Given the description of an element on the screen output the (x, y) to click on. 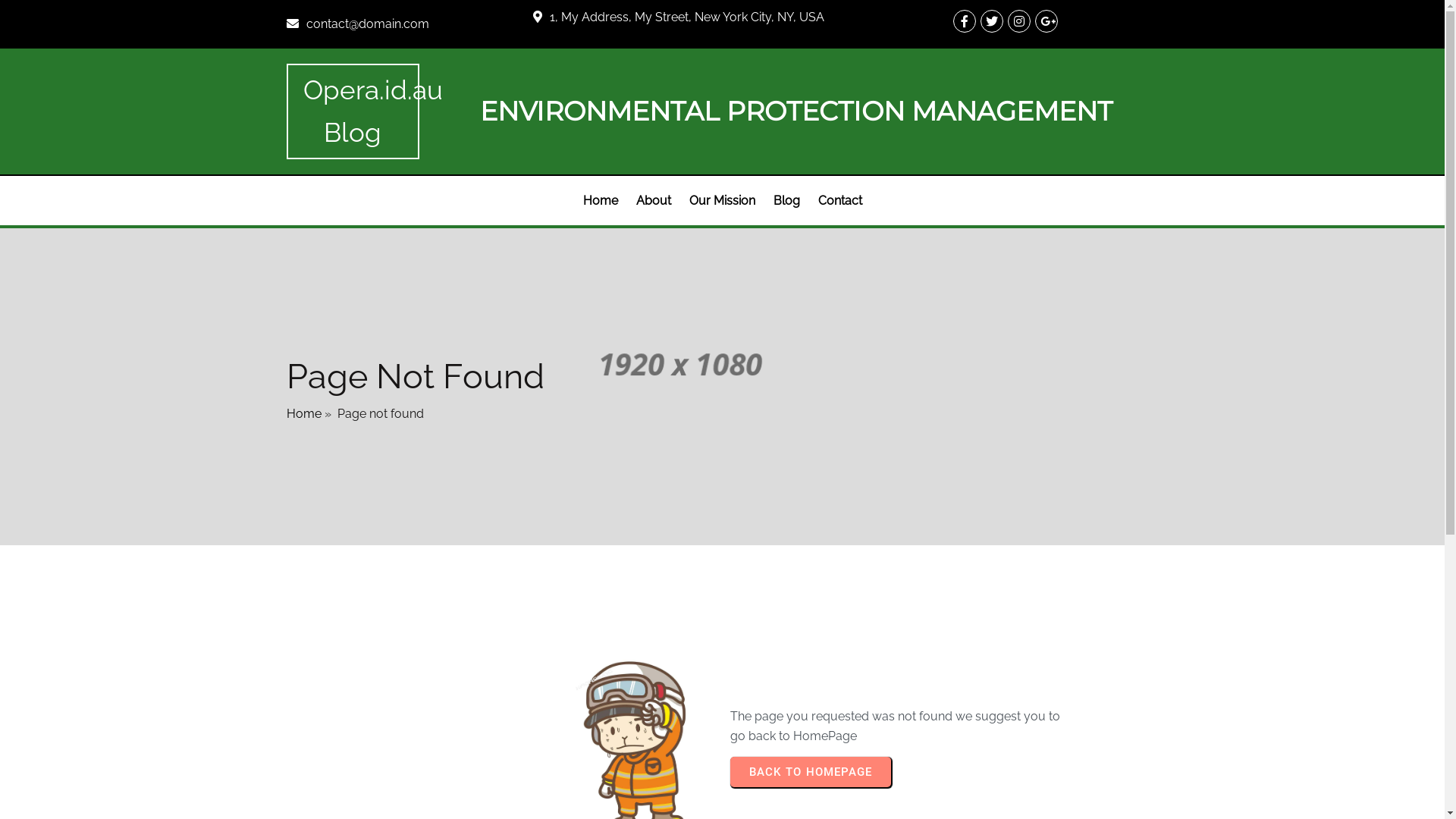
Home Element type: text (303, 413)
Home Element type: text (599, 200)
About Element type: text (652, 200)
Blog Element type: text (786, 200)
Opera.id.au Blog Element type: text (352, 111)
Our Mission Element type: text (721, 200)
Contact Element type: text (839, 200)
BACK TO HOMEPAGE Element type: text (809, 771)
